Given the description of an element on the screen output the (x, y) to click on. 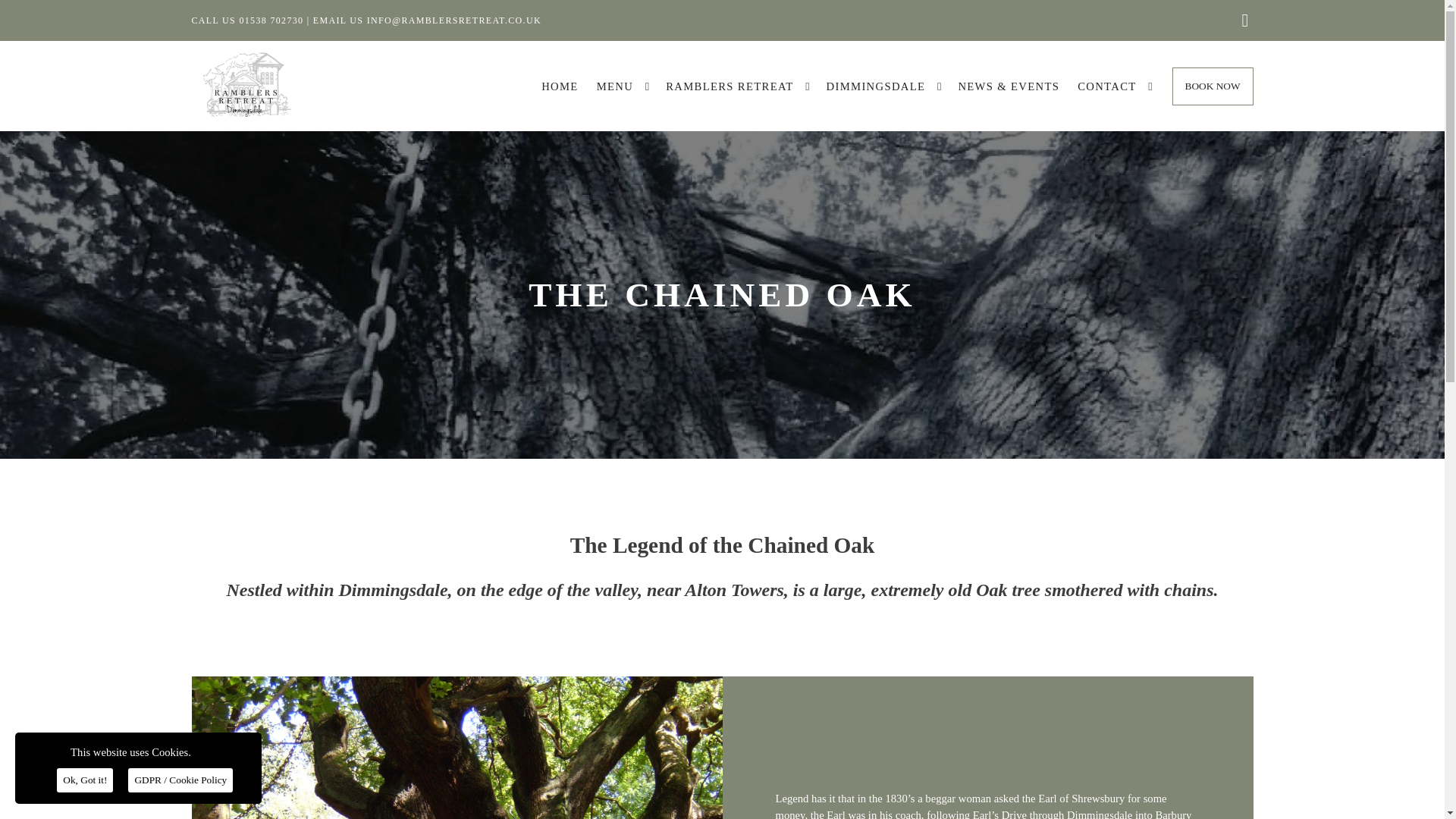
RAMBLERS RETREAT (729, 86)
